Given the description of an element on the screen output the (x, y) to click on. 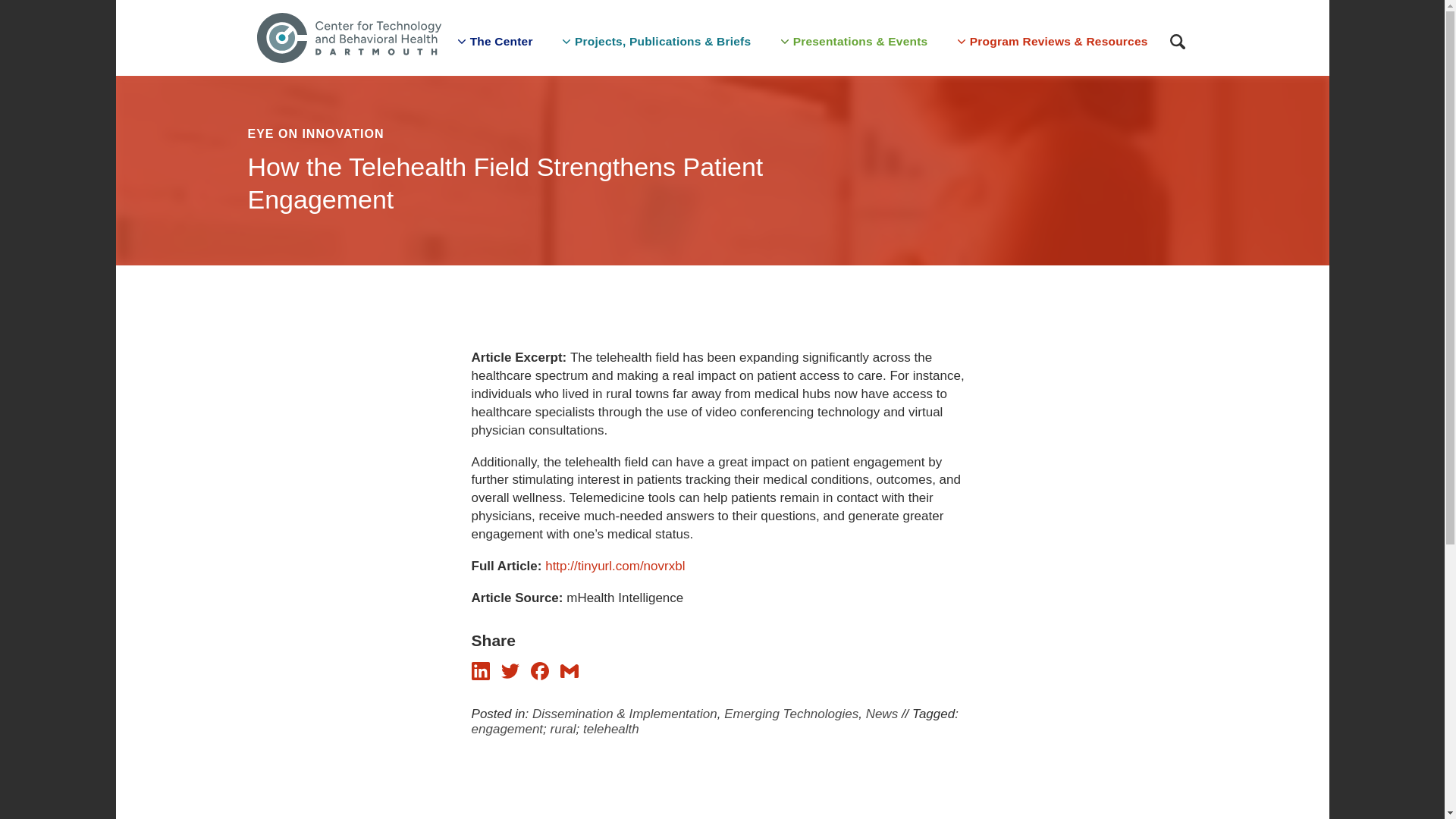
EYE ON INNOVATION (568, 134)
Facebook (539, 670)
Gmail (569, 670)
The Center (493, 38)
News (882, 713)
LinkedIn (480, 670)
Emerging Technologies (791, 713)
Facebook (539, 676)
Twitter (509, 676)
Gmail (569, 676)
engagement (507, 728)
The Center (493, 38)
rural (563, 728)
telehealth (611, 728)
Twitter (509, 670)
